Given the description of an element on the screen output the (x, y) to click on. 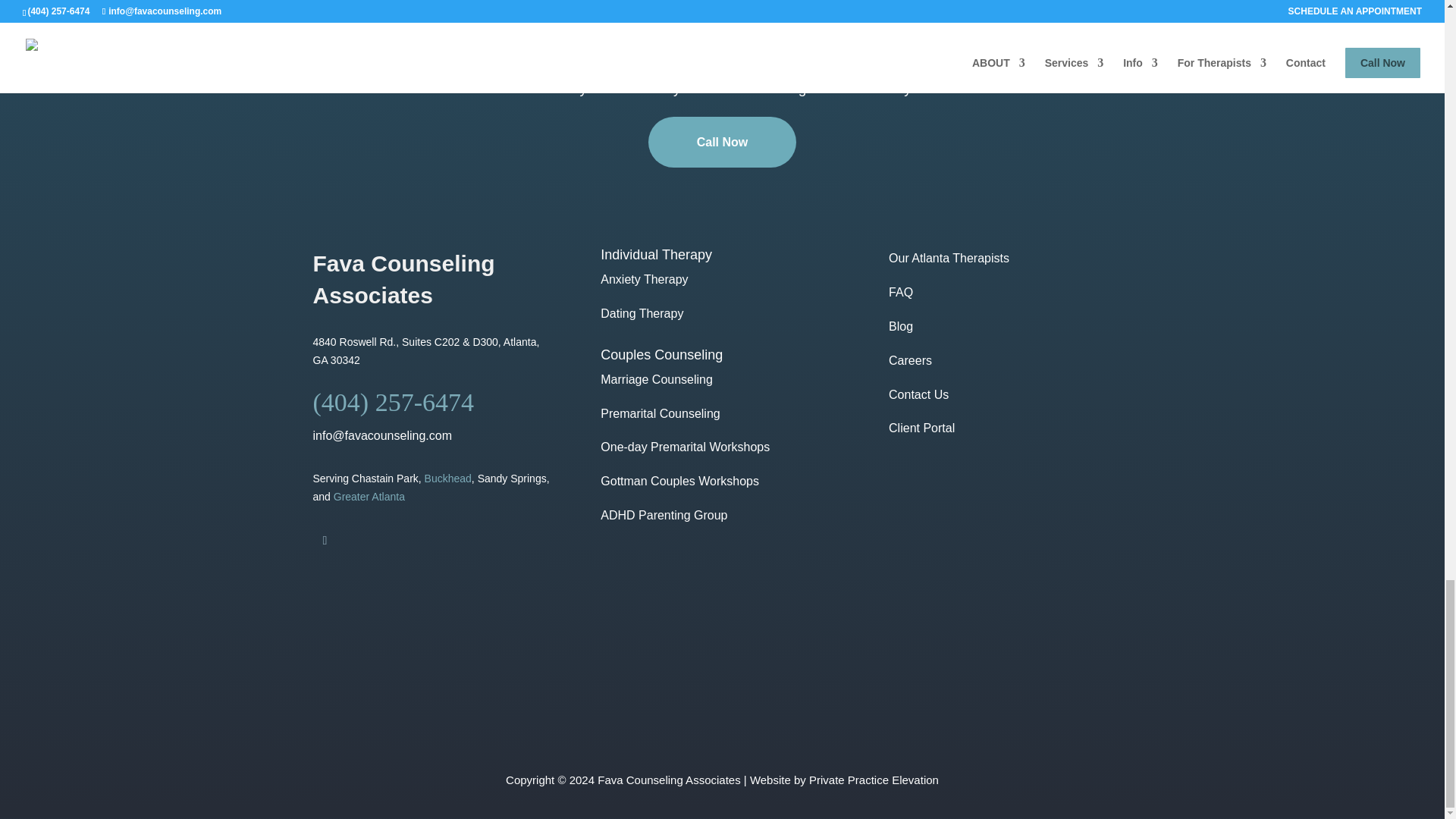
grn-badge-approved (830, 664)
certified-member-widget-design-clear-white (614, 663)
Seven-Principles-Leader-Badge-1-1 (1046, 663)
Follow on Facebook (324, 540)
